Given the description of an element on the screen output the (x, y) to click on. 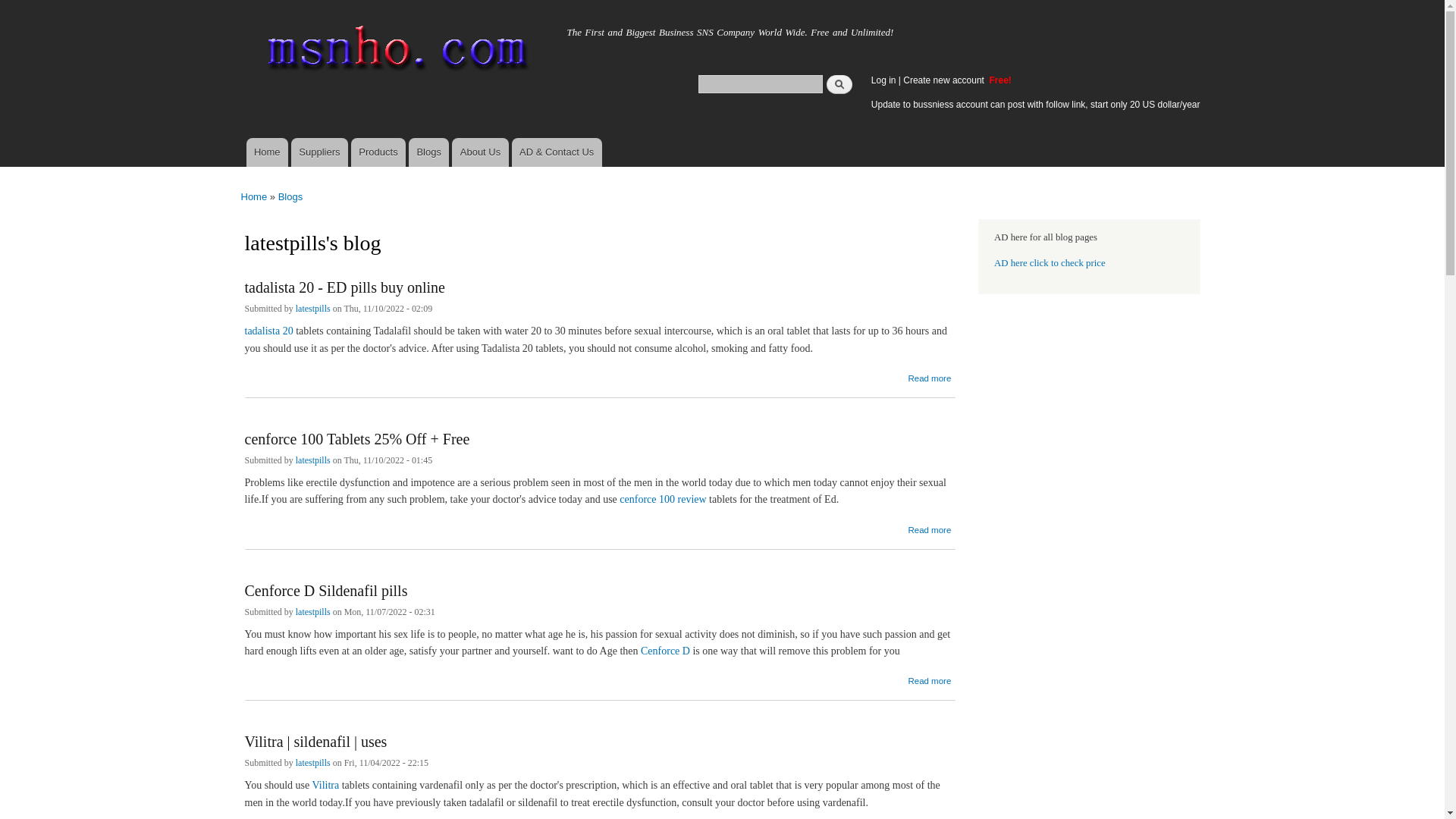
Blogs (428, 152)
Suppliers (319, 152)
Cenforce D Sildenafil pills  (928, 675)
Enter the terms you wish to search for. (760, 83)
latestpills (312, 613)
cenforce 100 review (663, 499)
Home (266, 152)
Blogs for suppliers and buyers (928, 675)
About us (428, 152)
